Given the description of an element on the screen output the (x, y) to click on. 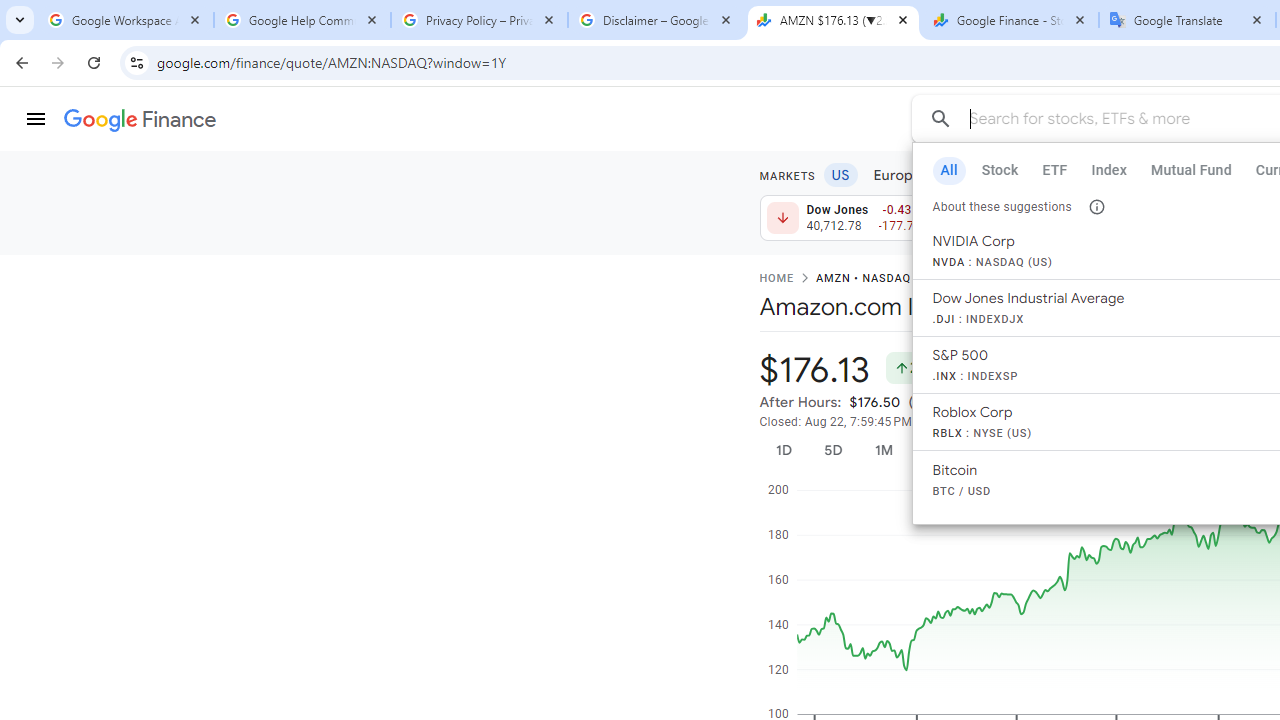
All (948, 170)
Europe (897, 174)
Futures (1192, 174)
About these suggestions (1096, 206)
1M (882, 449)
6M (934, 449)
1D (783, 449)
YTD (991, 449)
Nasdaq 17,619.35 Down by 1.67% -299.63 (1192, 218)
